Given the description of an element on the screen output the (x, y) to click on. 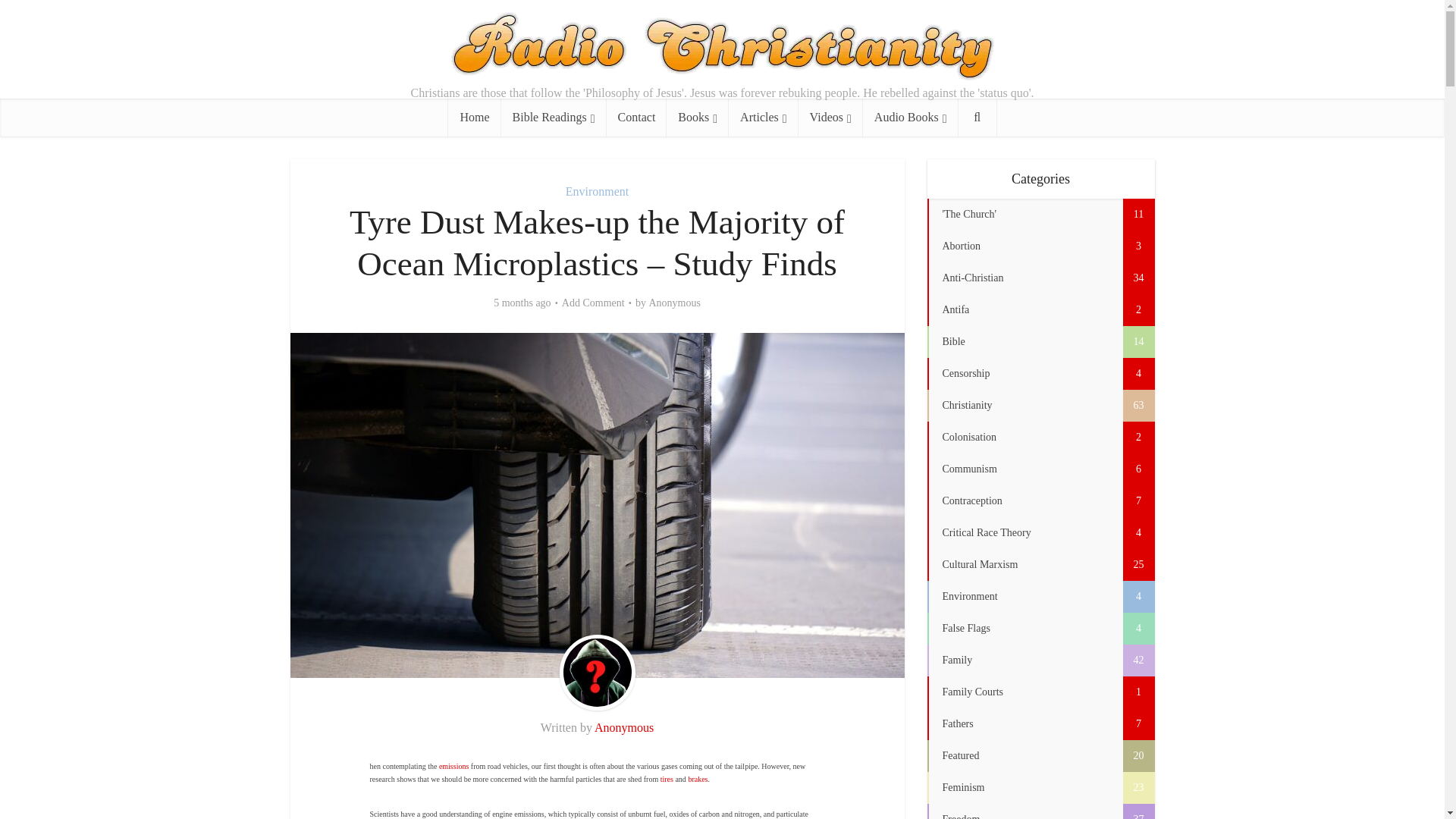
Books (697, 117)
Articles (763, 117)
Contact (636, 117)
Audio Books (910, 117)
Home (474, 117)
Videos (830, 117)
Bible Readings (553, 117)
